Given the description of an element on the screen output the (x, y) to click on. 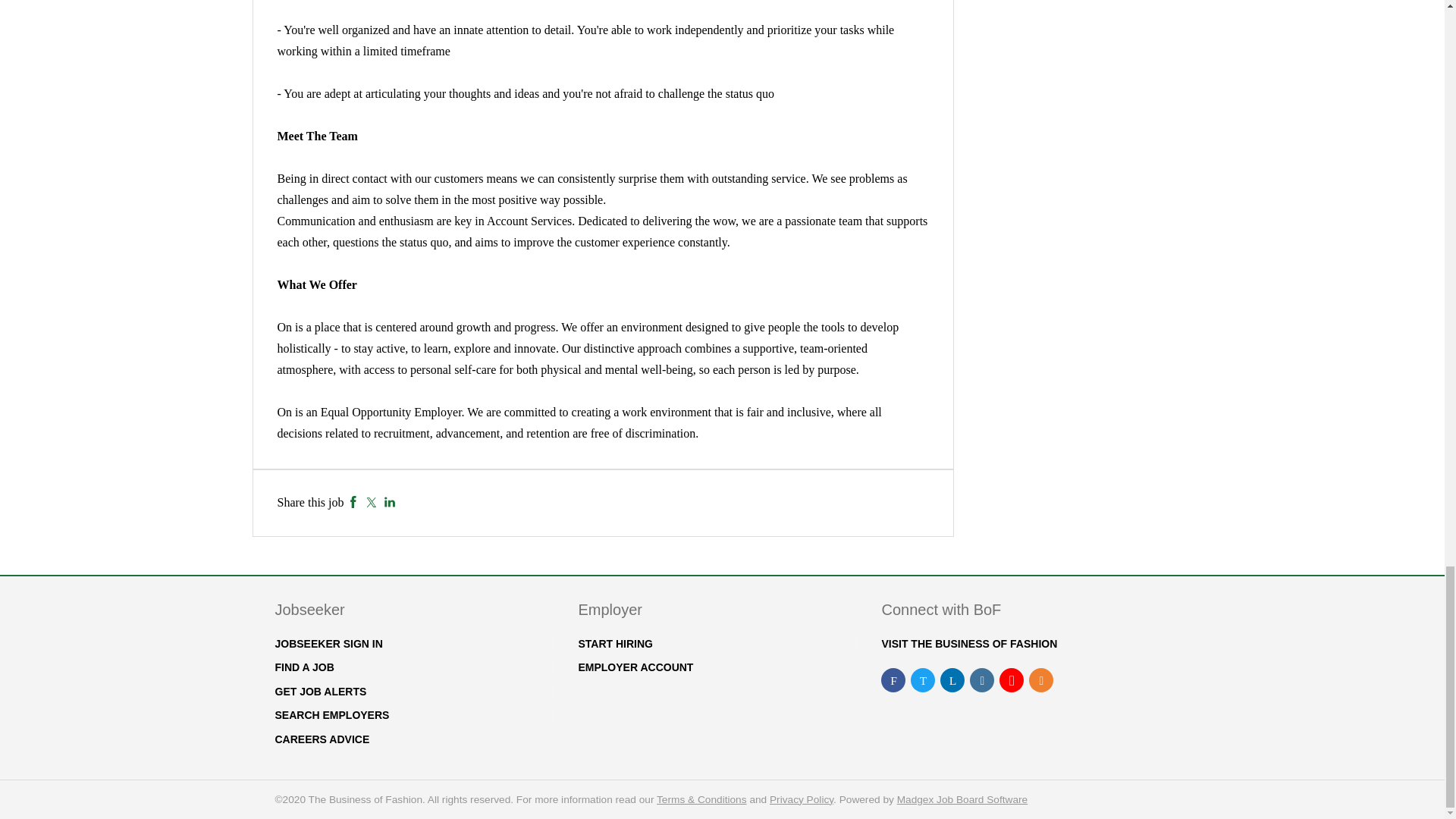
JOBSEEKER SIGN IN (328, 644)
Facebook (353, 502)
SEARCH EMPLOYERS (331, 715)
FIND A JOB (304, 666)
Twitter (371, 502)
GET JOB ALERTS (320, 691)
LinkedIn (390, 502)
